Given the description of an element on the screen output the (x, y) to click on. 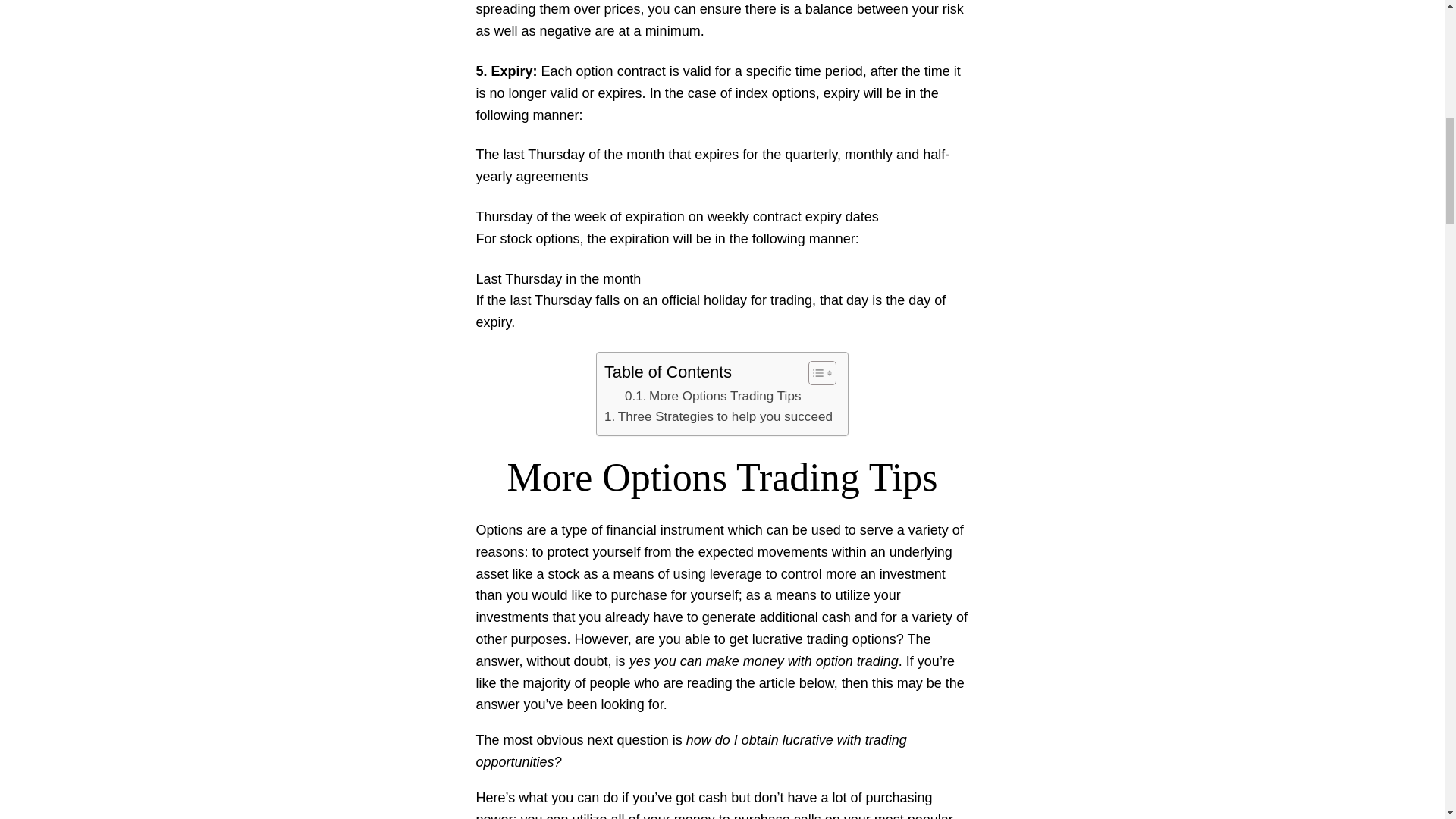
Three Strategies to help you succeed (718, 416)
More Options Trading Tips (712, 395)
More Options Trading Tips (712, 395)
Three Strategies to help you succeed (718, 416)
